Given the description of an element on the screen output the (x, y) to click on. 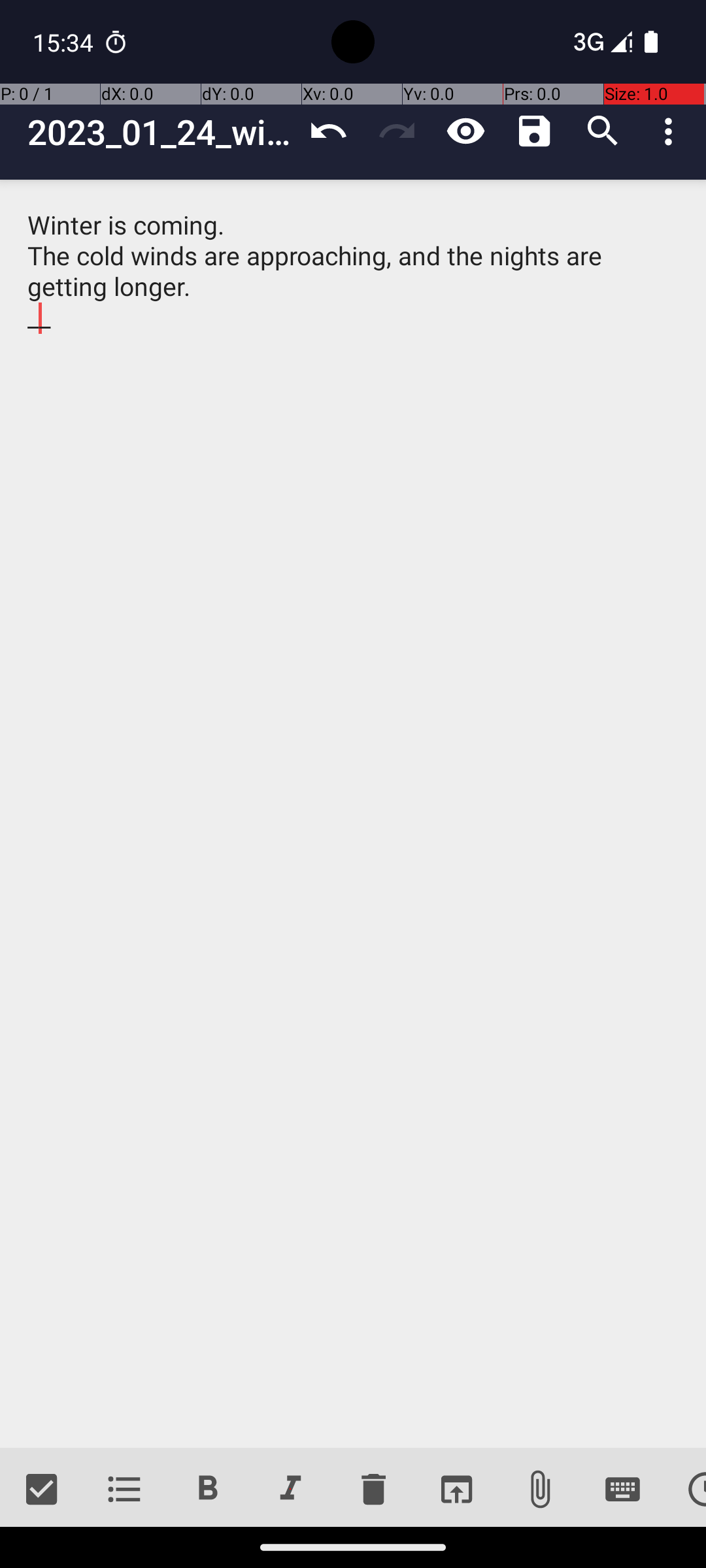
2023_01_24_wise_lamp Element type: android.widget.TextView (160, 131)
Winter is coming.
The cold winds are approaching, and the nights are getting longer.
__ Element type: android.widget.EditText (353, 813)
